Given the description of an element on the screen output the (x, y) to click on. 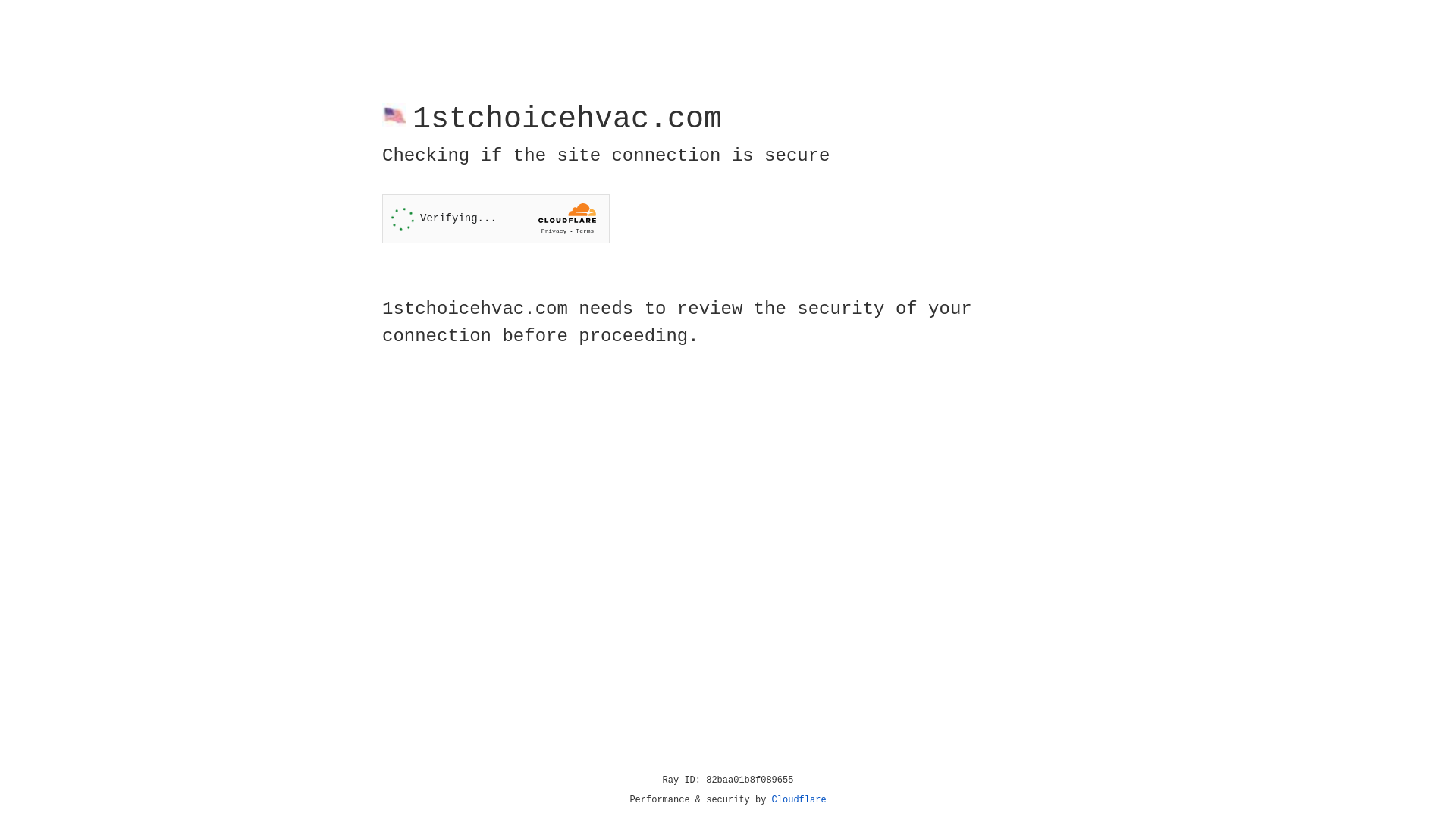
Widget containing a Cloudflare security challenge Element type: hover (495, 218)
Cloudflare Element type: text (798, 799)
